Given the description of an element on the screen output the (x, y) to click on. 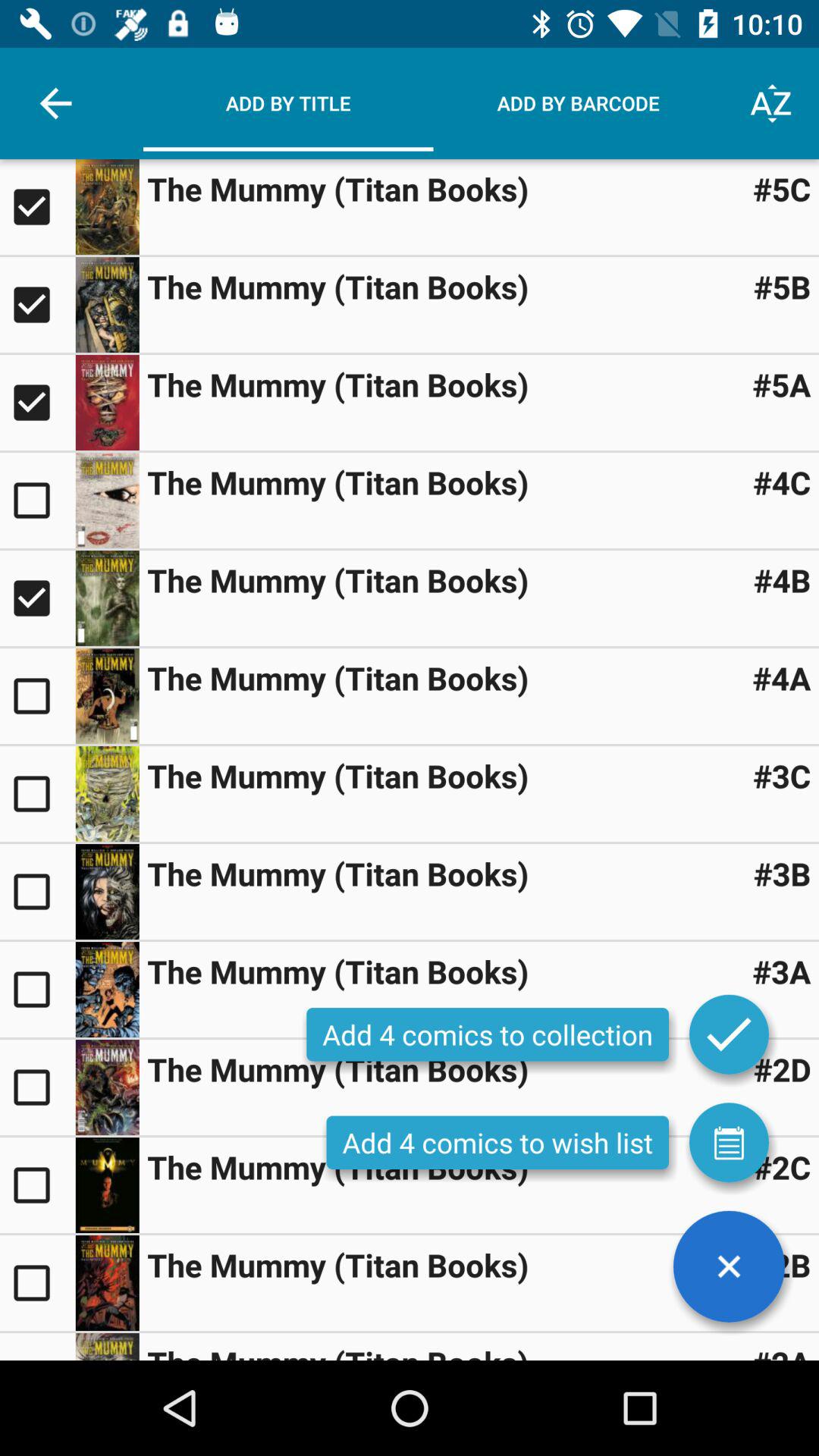
toggle comic selection (37, 206)
